Given the description of an element on the screen output the (x, y) to click on. 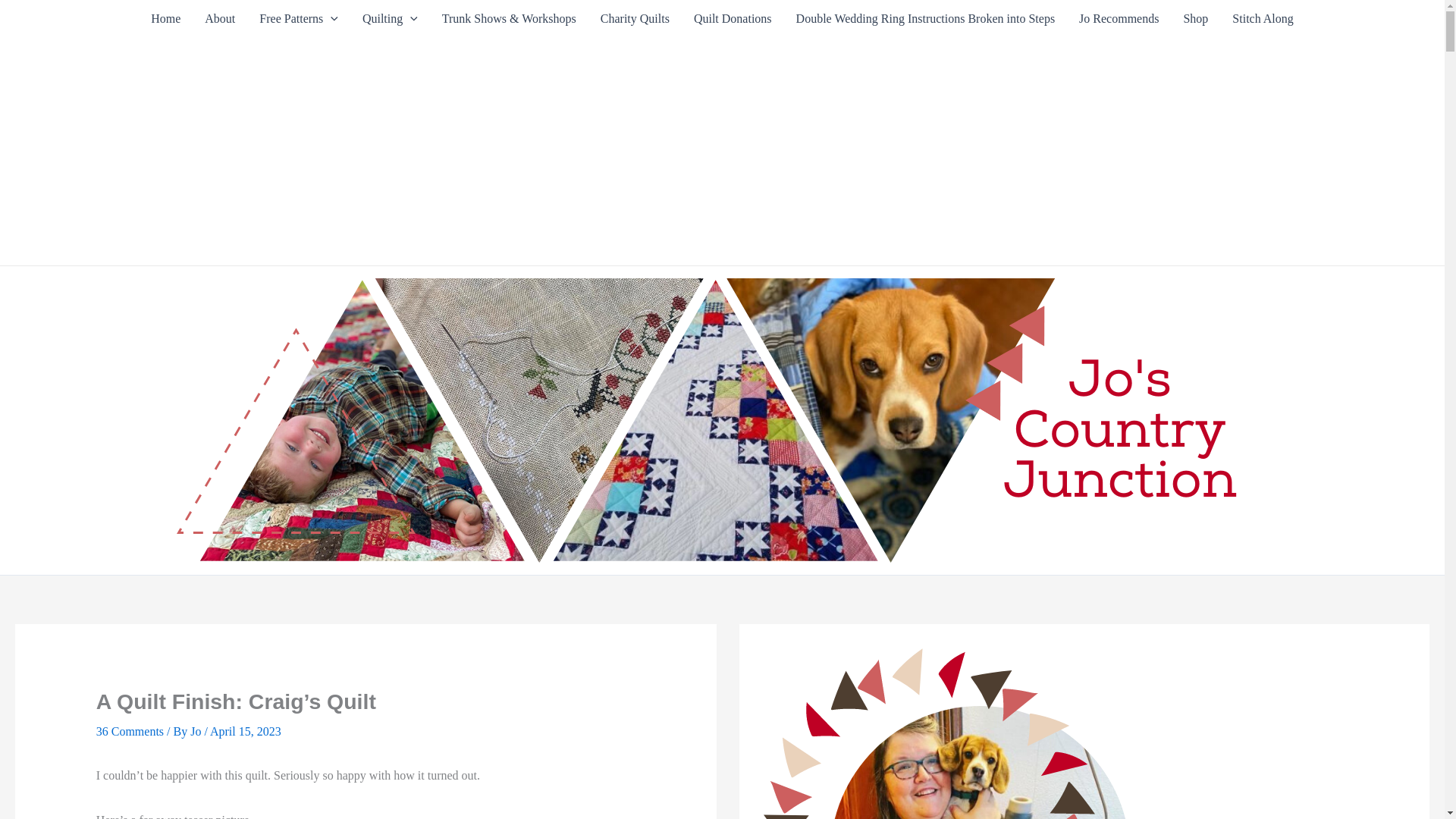
Free Patterns (298, 18)
View all posts by Jo (196, 730)
Quilts of 2012 (389, 18)
About (219, 18)
Quilt Donations (732, 18)
Quilting (389, 18)
Charity Quilts (634, 18)
Home (165, 18)
